Given the description of an element on the screen output the (x, y) to click on. 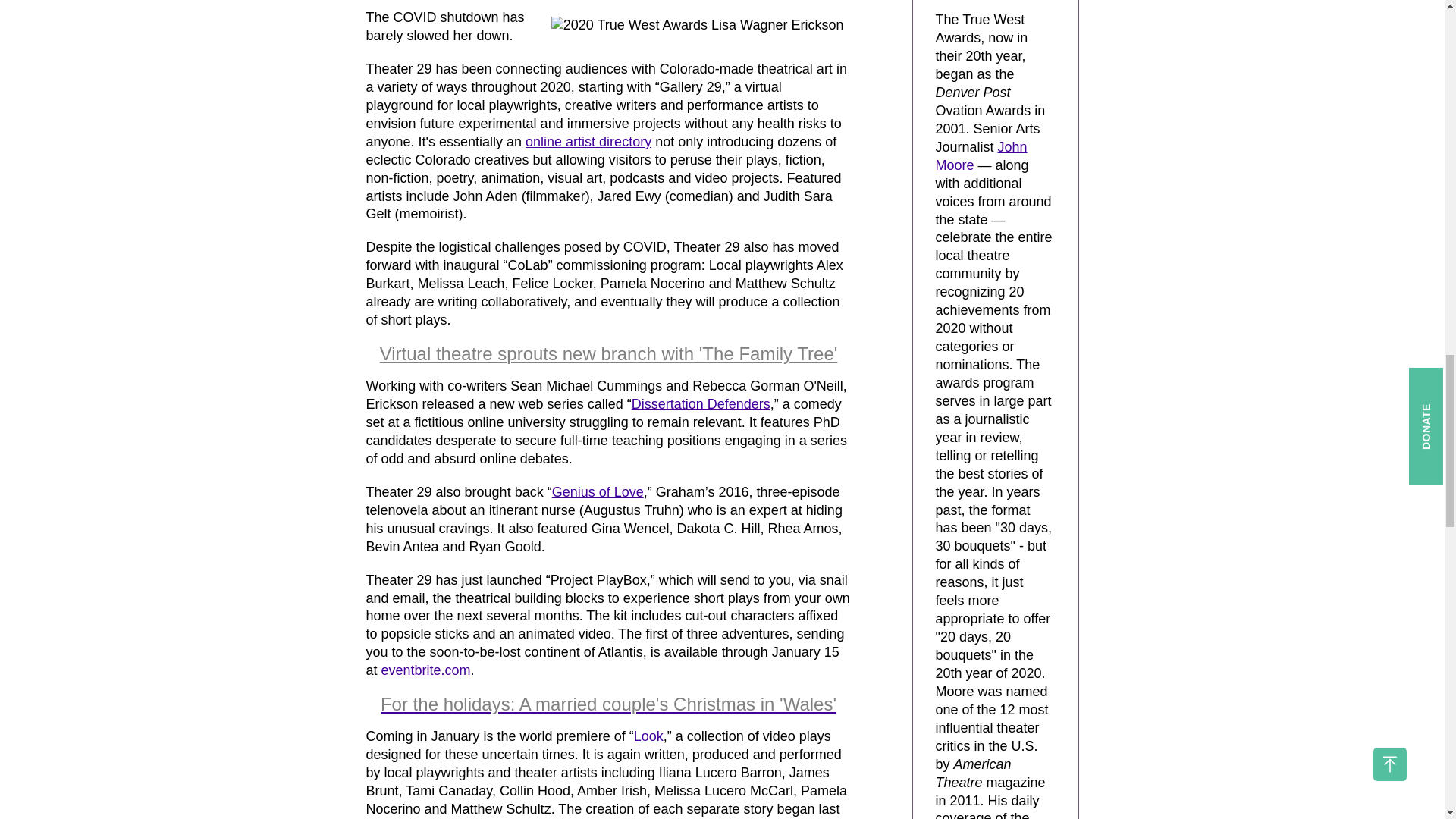
For the holidays: A married couple's Christmas in 'Wales' (607, 703)
online artist directory (587, 141)
Dissertation Defenders (700, 403)
eventbrite.com (425, 670)
John Moore (981, 155)
Virtual theatre sprouts new branch with 'The Family Tree' (609, 353)
Look (648, 735)
Genius of Love (597, 491)
